Given the description of an element on the screen output the (x, y) to click on. 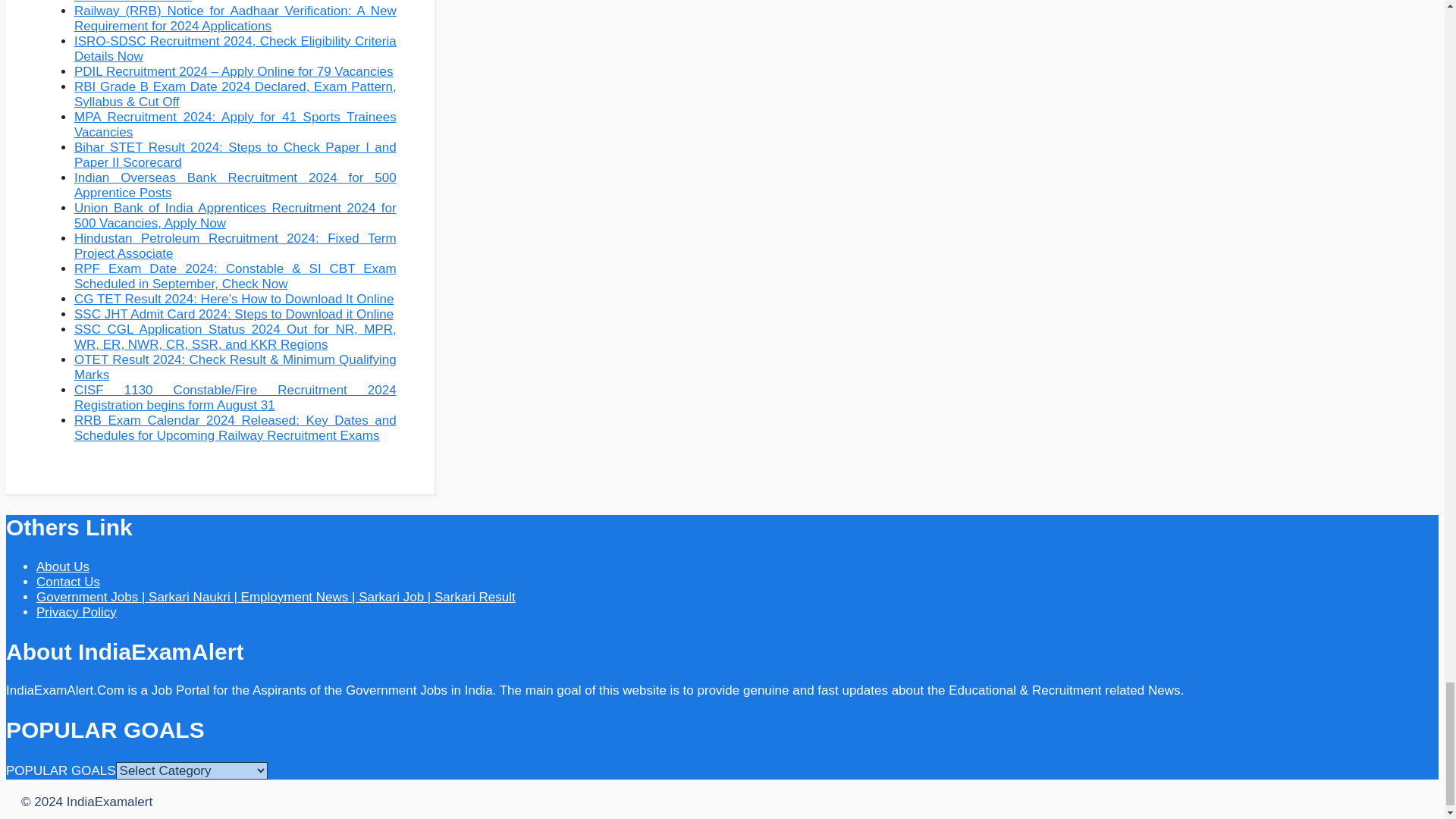
MPA Recruitment 2024: Apply for 41 Sports Trainees Vacancies (235, 124)
